Given the description of an element on the screen output the (x, y) to click on. 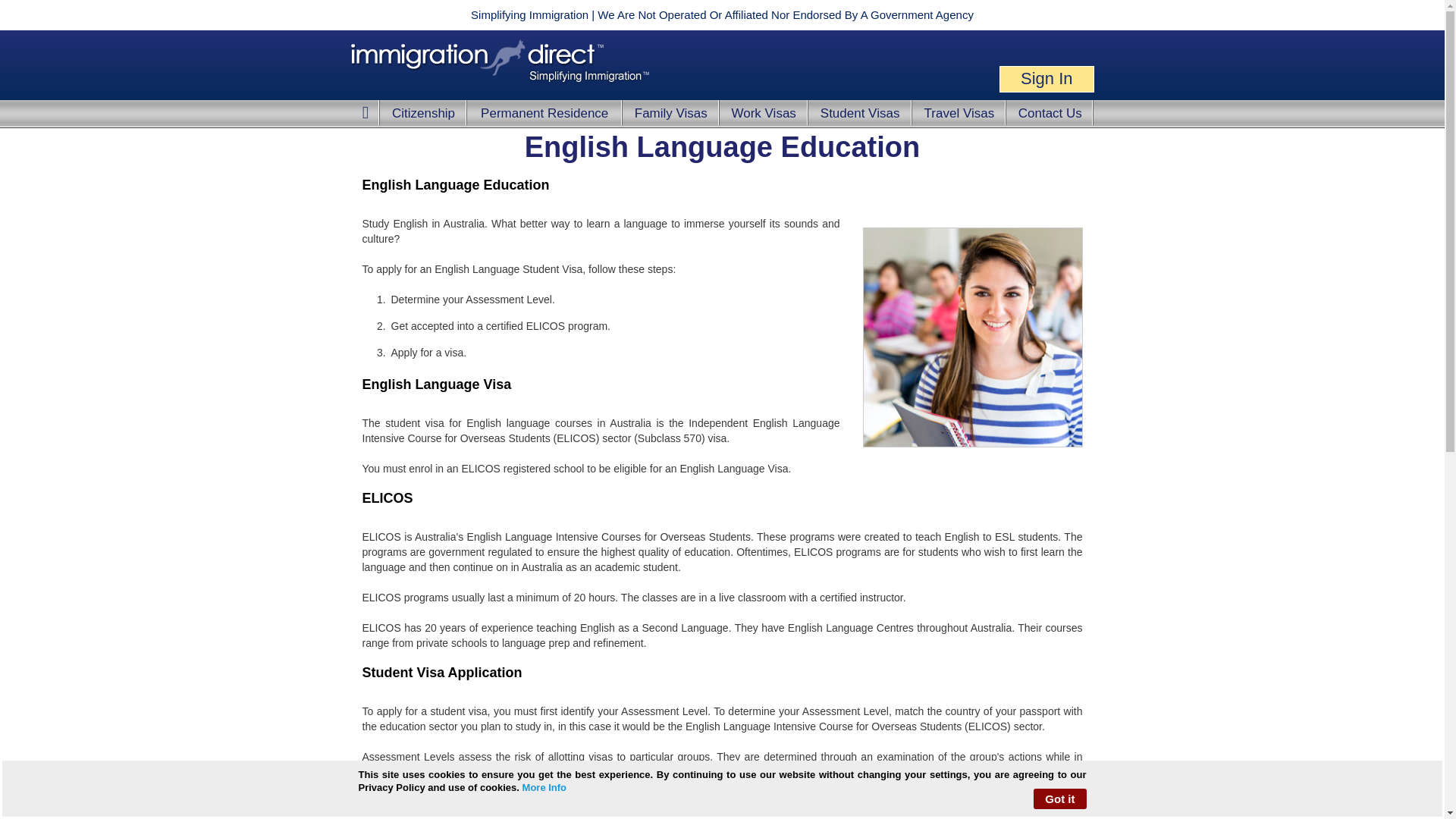
Citizenship (422, 112)
Travel Visas (959, 112)
Work Visas (763, 112)
Family Visas (671, 112)
Student Visas (860, 112)
Permanent Residence (545, 112)
Sign In (1046, 79)
ImmigrationDirect (498, 62)
